Given the description of an element on the screen output the (x, y) to click on. 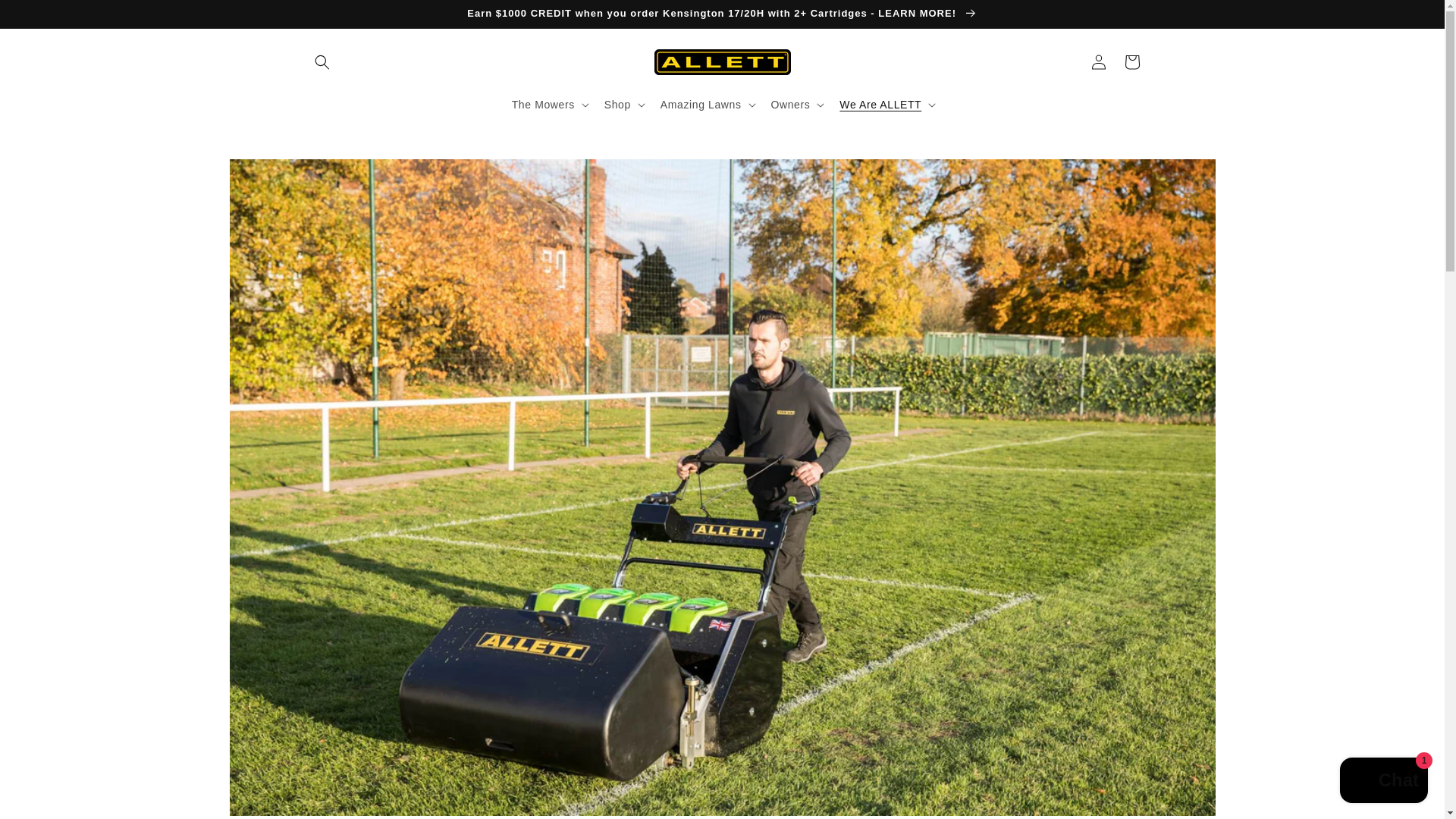
Skip to content (45, 16)
Shopify online store chat (1383, 781)
